Given the description of an element on the screen output the (x, y) to click on. 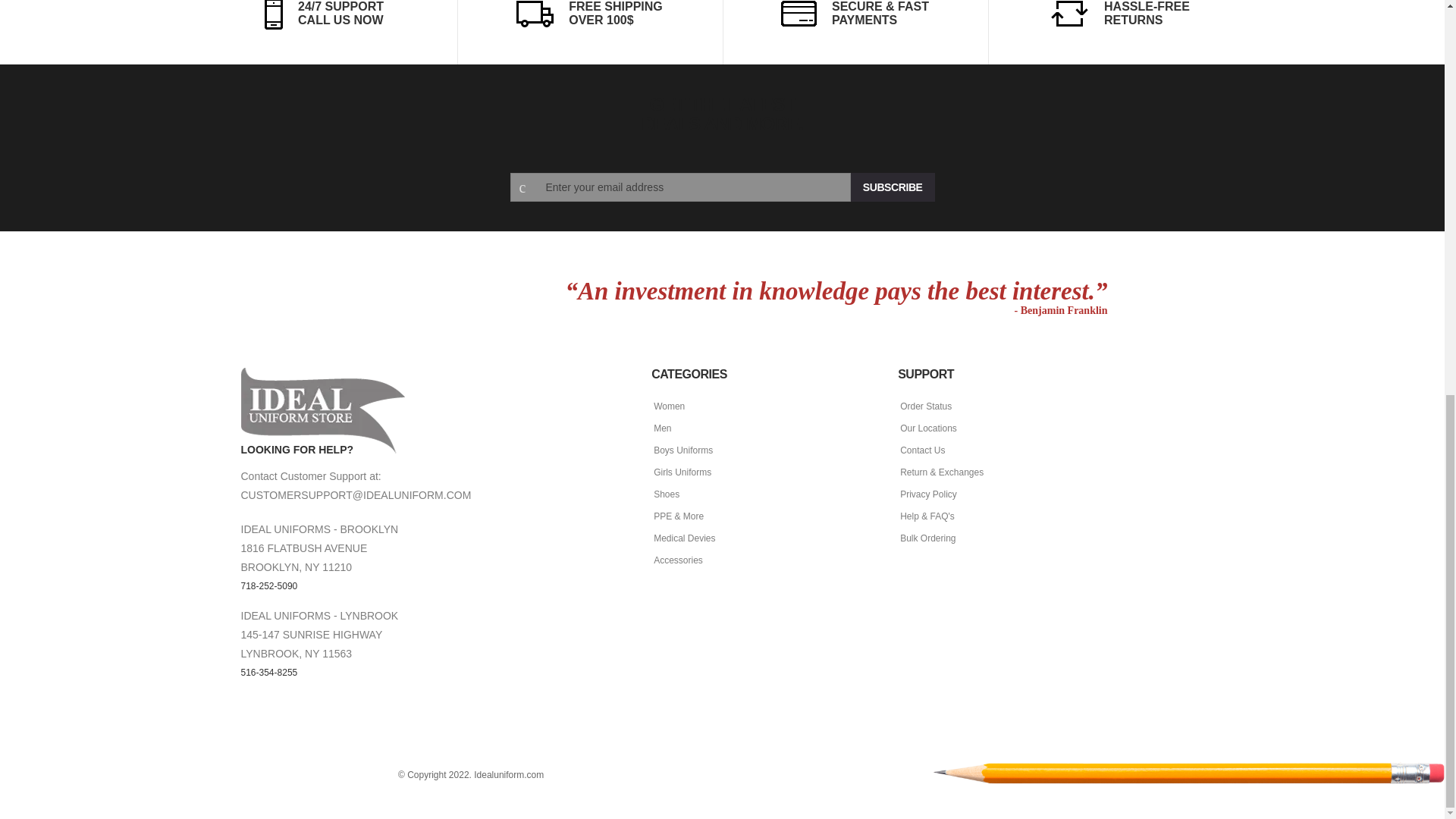
Subscribe (892, 186)
